Given the description of an element on the screen output the (x, y) to click on. 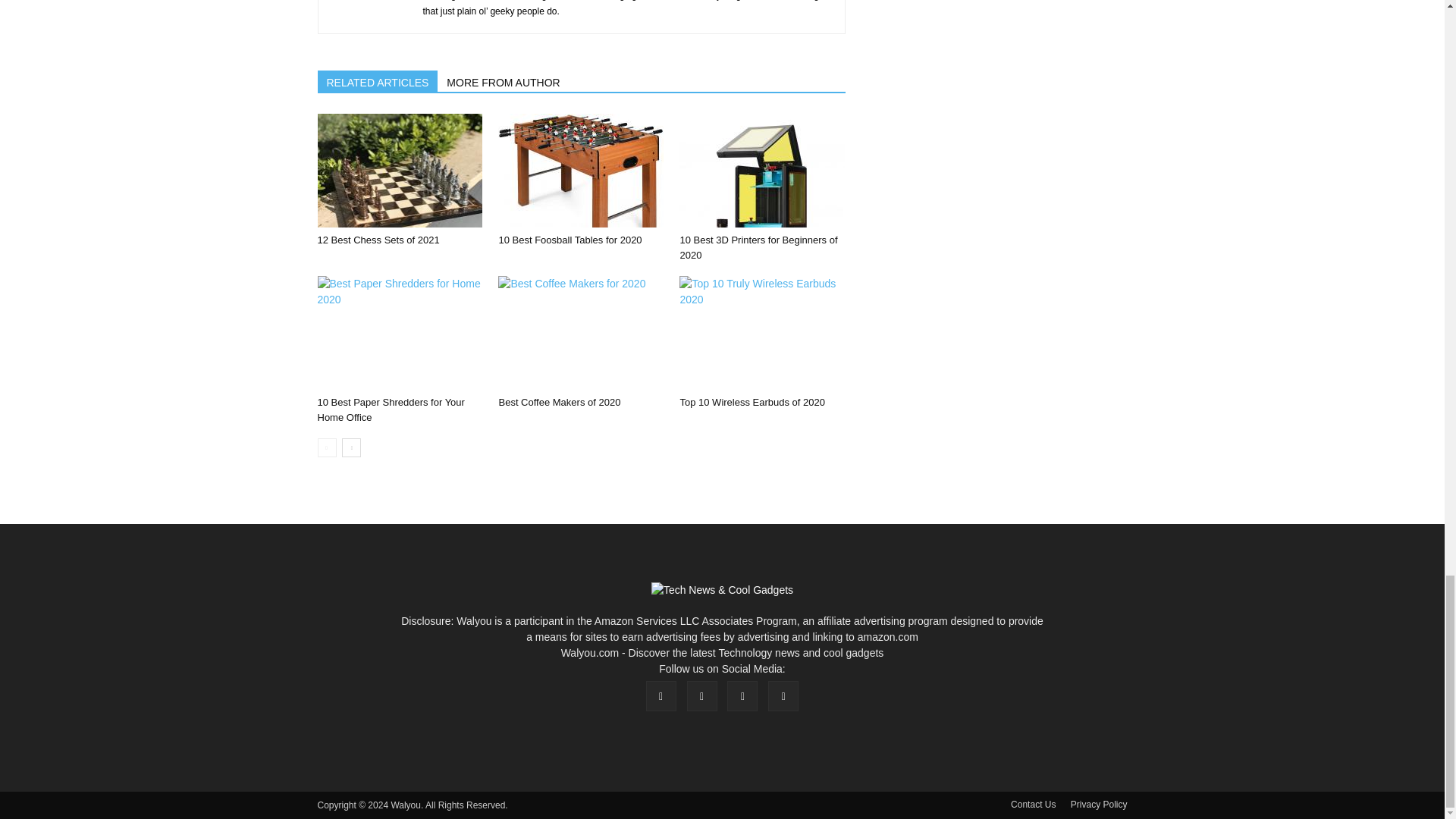
12 Best Chess Sets of 2021 (378, 239)
10 Best Foosball Tables for 2020 (580, 170)
10 Best Foosball Tables for 2020 (569, 239)
12 Best Chess Sets of 2021 (399, 170)
